Given the description of an element on the screen output the (x, y) to click on. 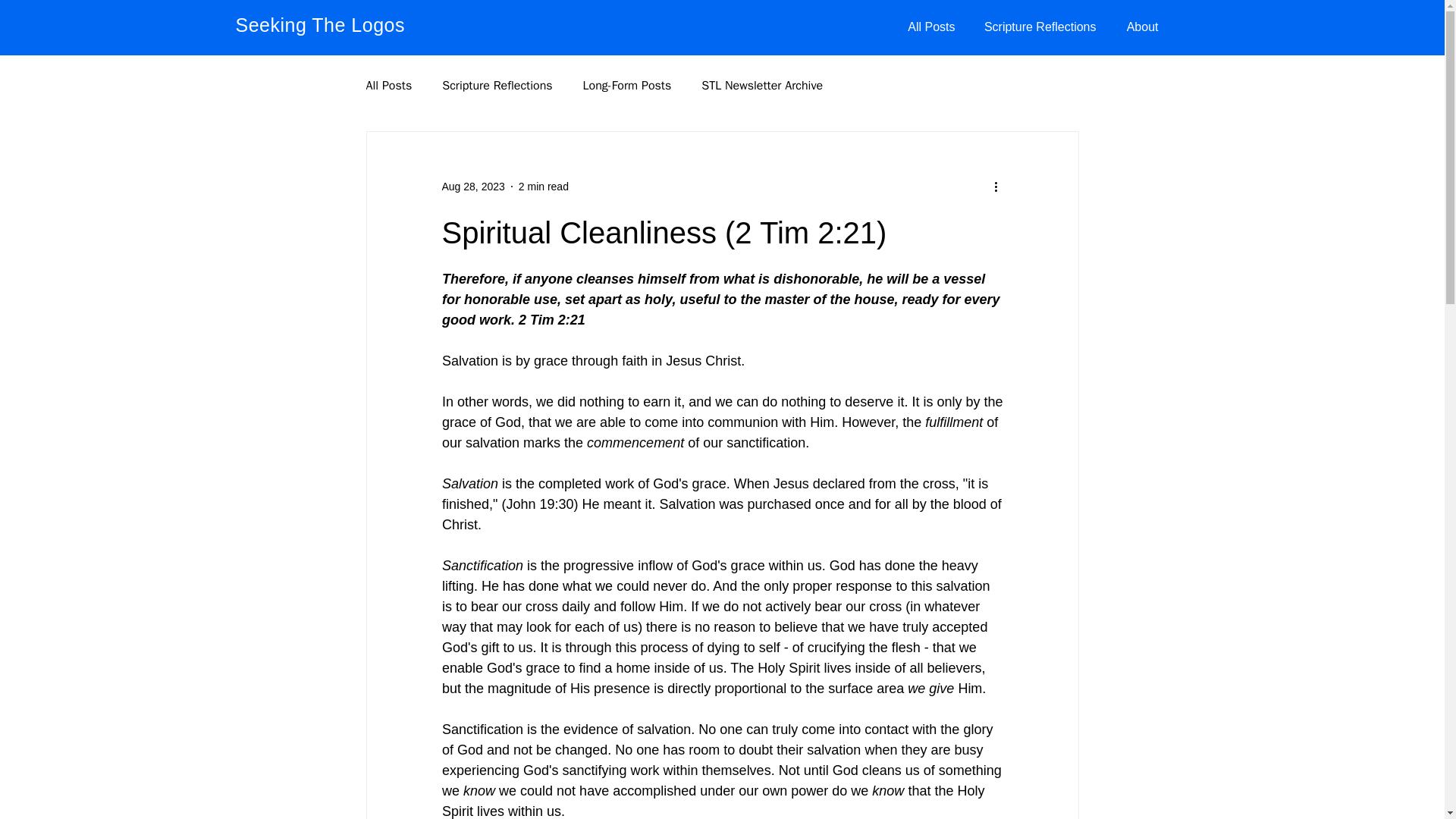
Seeking The Logos (319, 25)
About (1137, 26)
All Posts (388, 84)
Long-Form Posts (627, 84)
All Posts (929, 26)
Aug 28, 2023 (472, 186)
2 min read (543, 186)
Scripture Reflections (496, 84)
STL Newsletter Archive (761, 84)
Scripture Reflections (1036, 26)
